Given the description of an element on the screen output the (x, y) to click on. 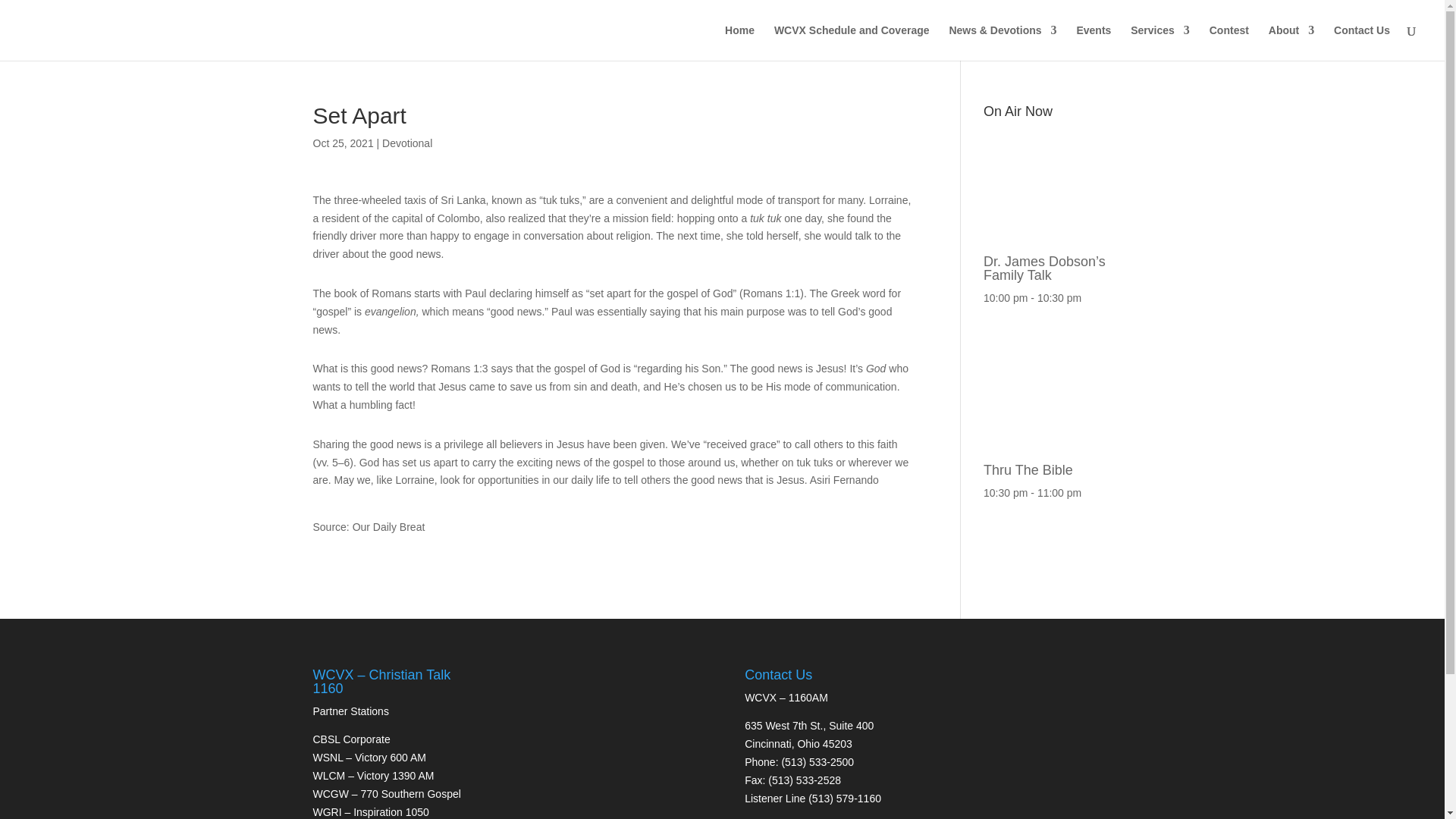
Services (1160, 42)
Contact Us (1361, 42)
WCVX Schedule and Coverage (852, 42)
Thru The Bible (1057, 462)
Devotional (406, 143)
Events (1092, 42)
Contest (1229, 42)
Thru The Bible (1057, 462)
CBSL Corporate (351, 739)
Home (739, 42)
About (1291, 42)
